Given the description of an element on the screen output the (x, y) to click on. 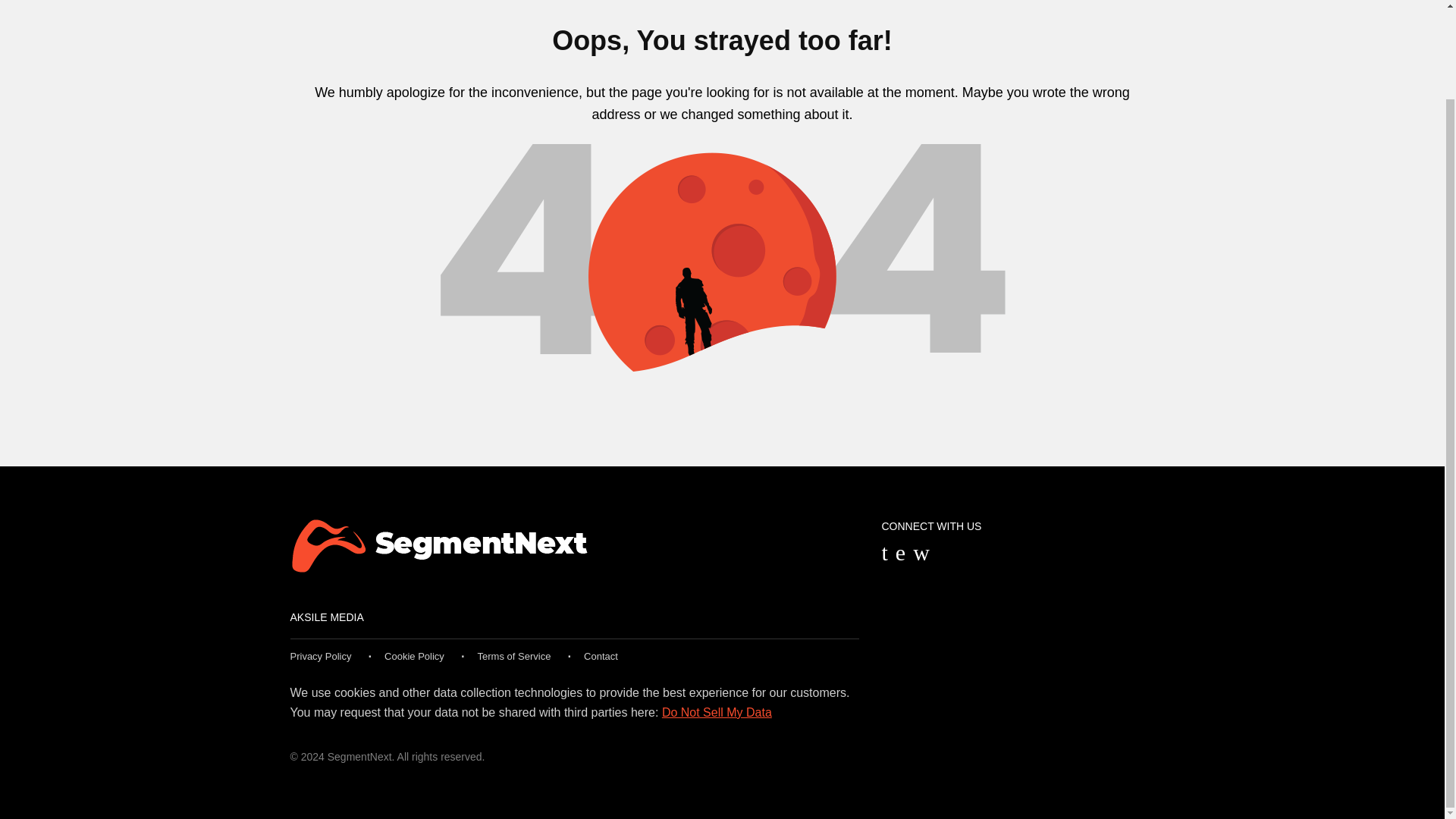
Privacy Policy (319, 655)
Do Not Sell My Data (716, 712)
Contact (600, 655)
Terms of Service (514, 655)
Cookie Policy (414, 655)
